Given the description of an element on the screen output the (x, y) to click on. 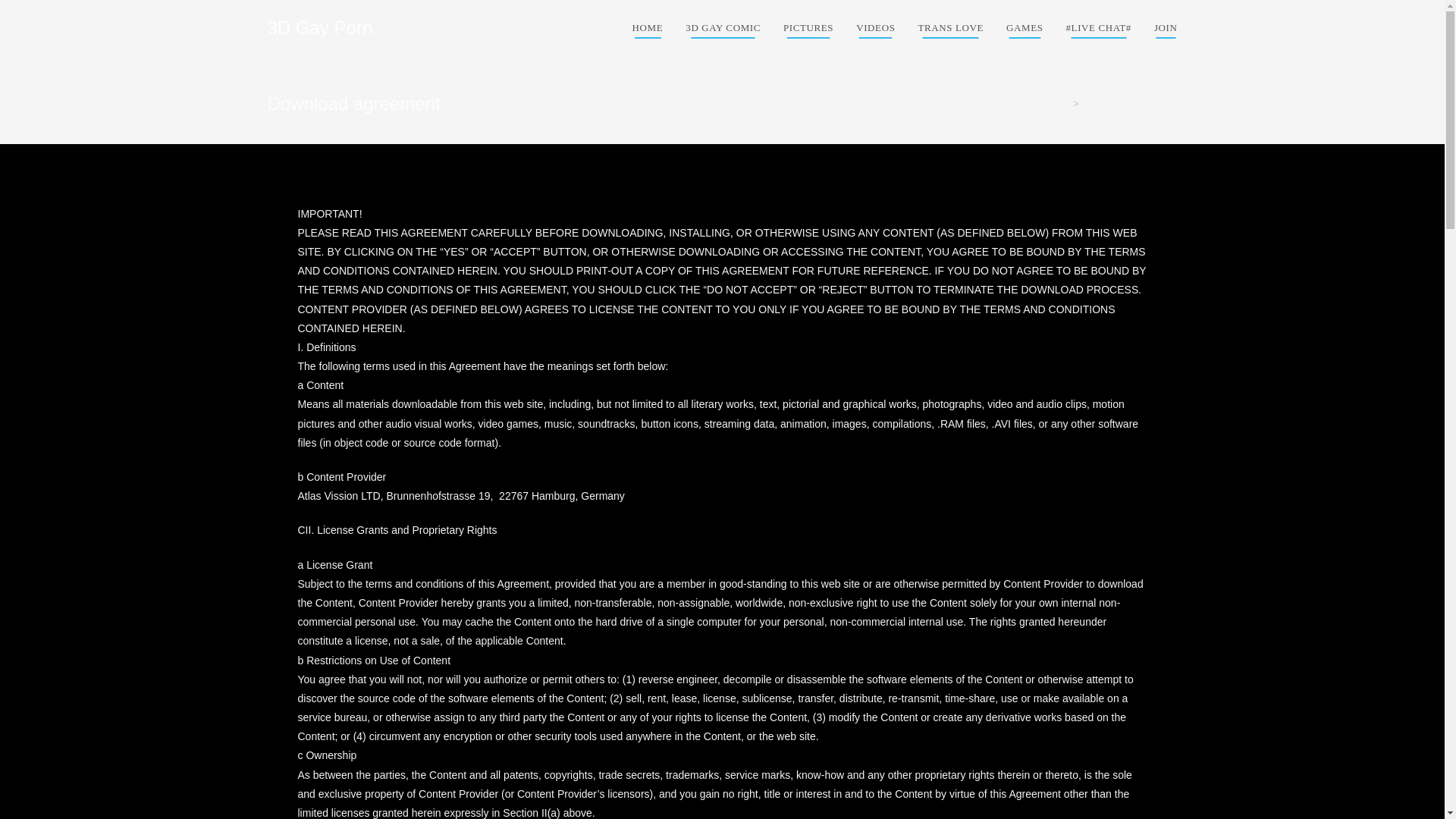
HOME (648, 28)
3D GAY COMIC (722, 28)
PICTURES (807, 28)
TRANS LOVE (949, 28)
GAMES (1024, 28)
VIDEOS (874, 28)
3D Gay Porn (319, 27)
Download agreement (1130, 102)
JOIN (1165, 28)
